Given the description of an element on the screen output the (x, y) to click on. 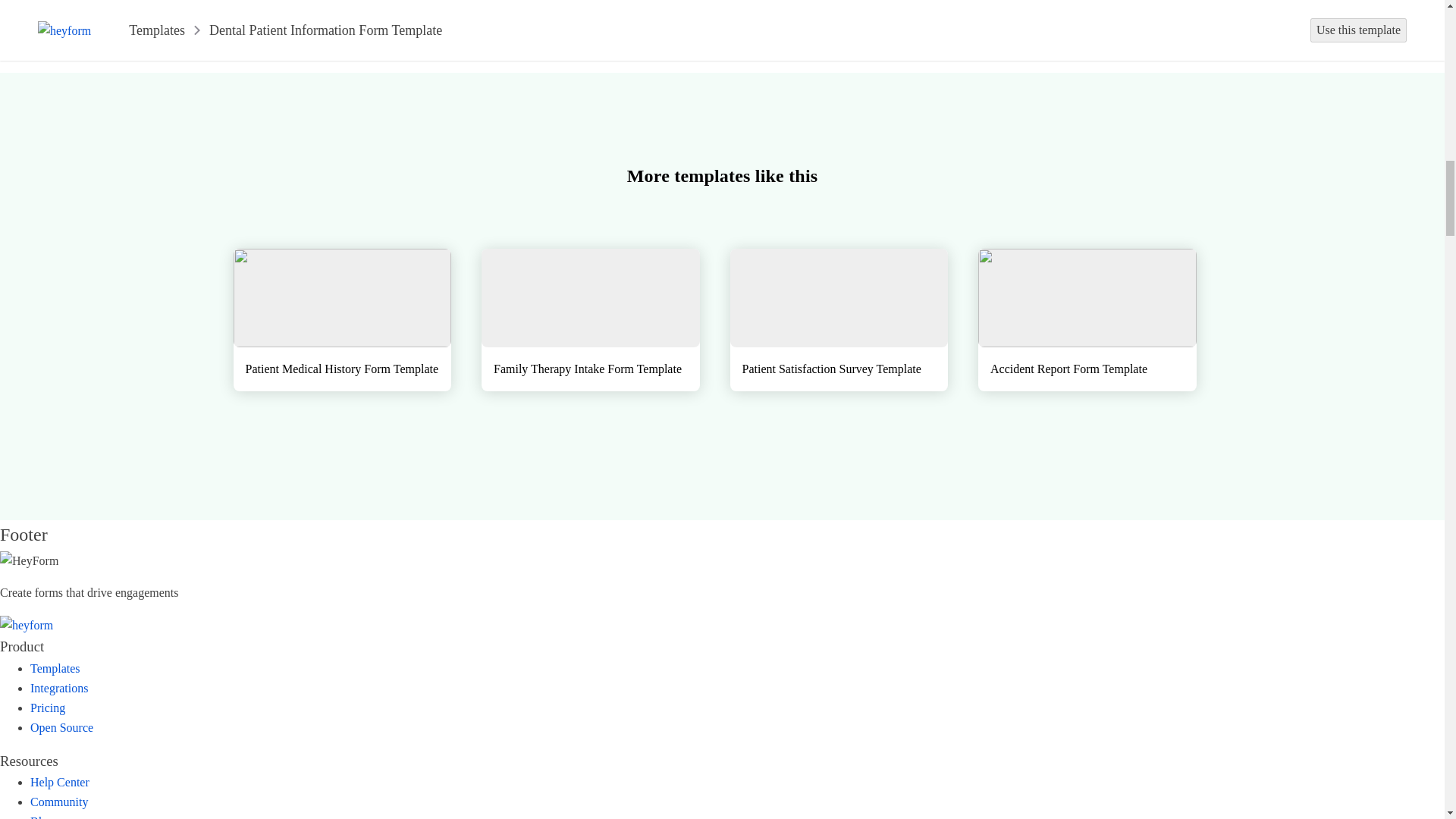
Blog (41, 816)
Help Center (59, 781)
Pricing (47, 707)
Accident Report Form Template (1087, 319)
Patient Medical History Form Template (341, 319)
Integrations (58, 686)
Open Source (61, 726)
Patient Satisfaction Survey Template (838, 319)
Community (58, 801)
Family Therapy Intake Form Template (590, 319)
Templates (55, 667)
